Given the description of an element on the screen output the (x, y) to click on. 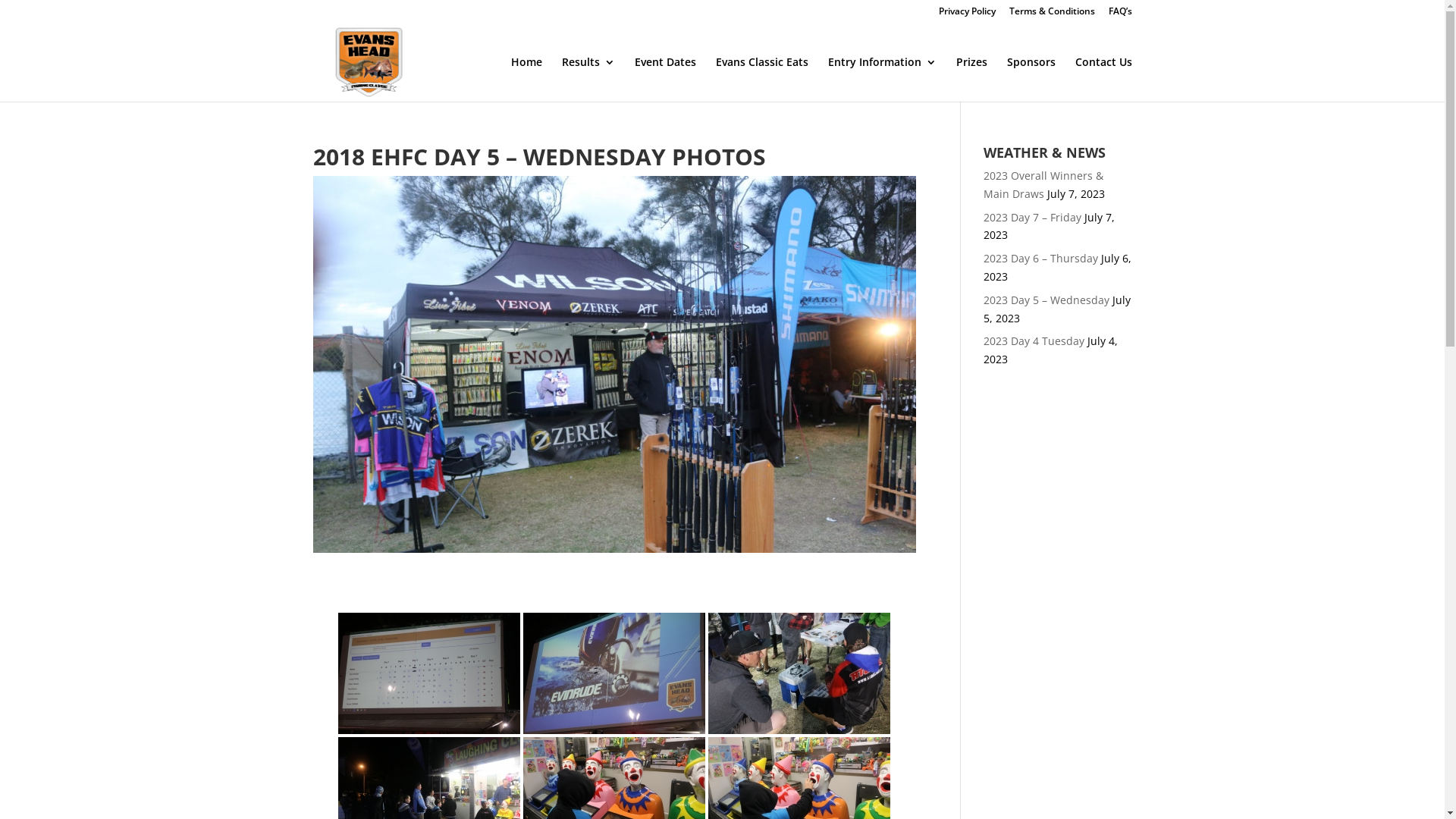
Sponsors Element type: text (1031, 78)
IMG_2445 Element type: hover (614, 673)
Event Dates Element type: text (664, 78)
IMG_2448 Element type: hover (799, 673)
Privacy Policy Element type: text (966, 14)
Contact Us Element type: text (1103, 78)
IMG_2444 Element type: hover (429, 673)
Home Element type: text (526, 78)
Entry Information Element type: text (882, 78)
Results Element type: text (587, 78)
2023 Day 4 Tuesday Element type: text (1033, 340)
2023 Overall Winners & Main Draws Element type: text (1043, 184)
Prizes Element type: text (970, 78)
Terms & Conditions Element type: text (1051, 14)
Evans Classic Eats Element type: text (761, 78)
